Given the description of an element on the screen output the (x, y) to click on. 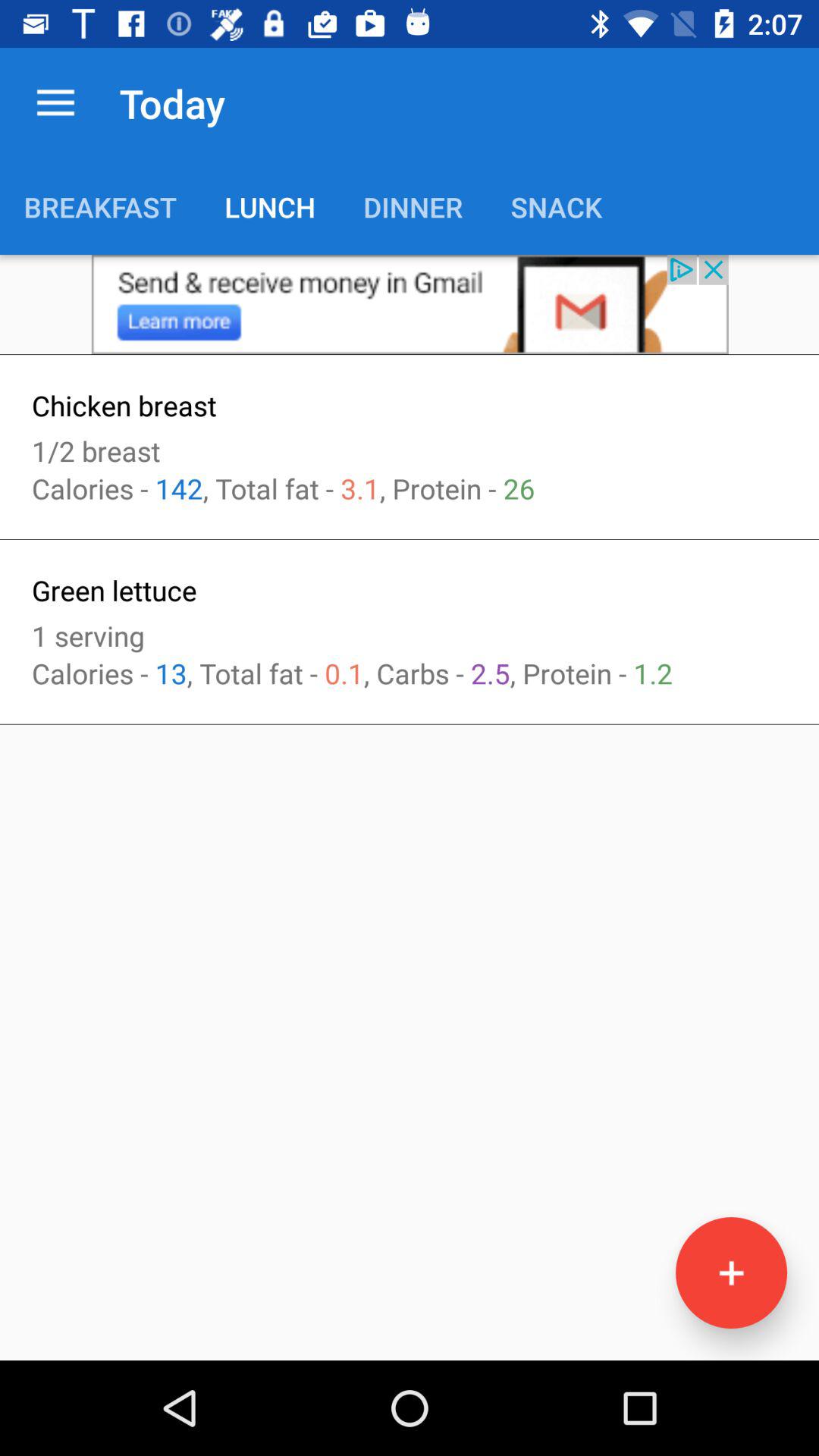
add information (731, 1272)
